Given the description of an element on the screen output the (x, y) to click on. 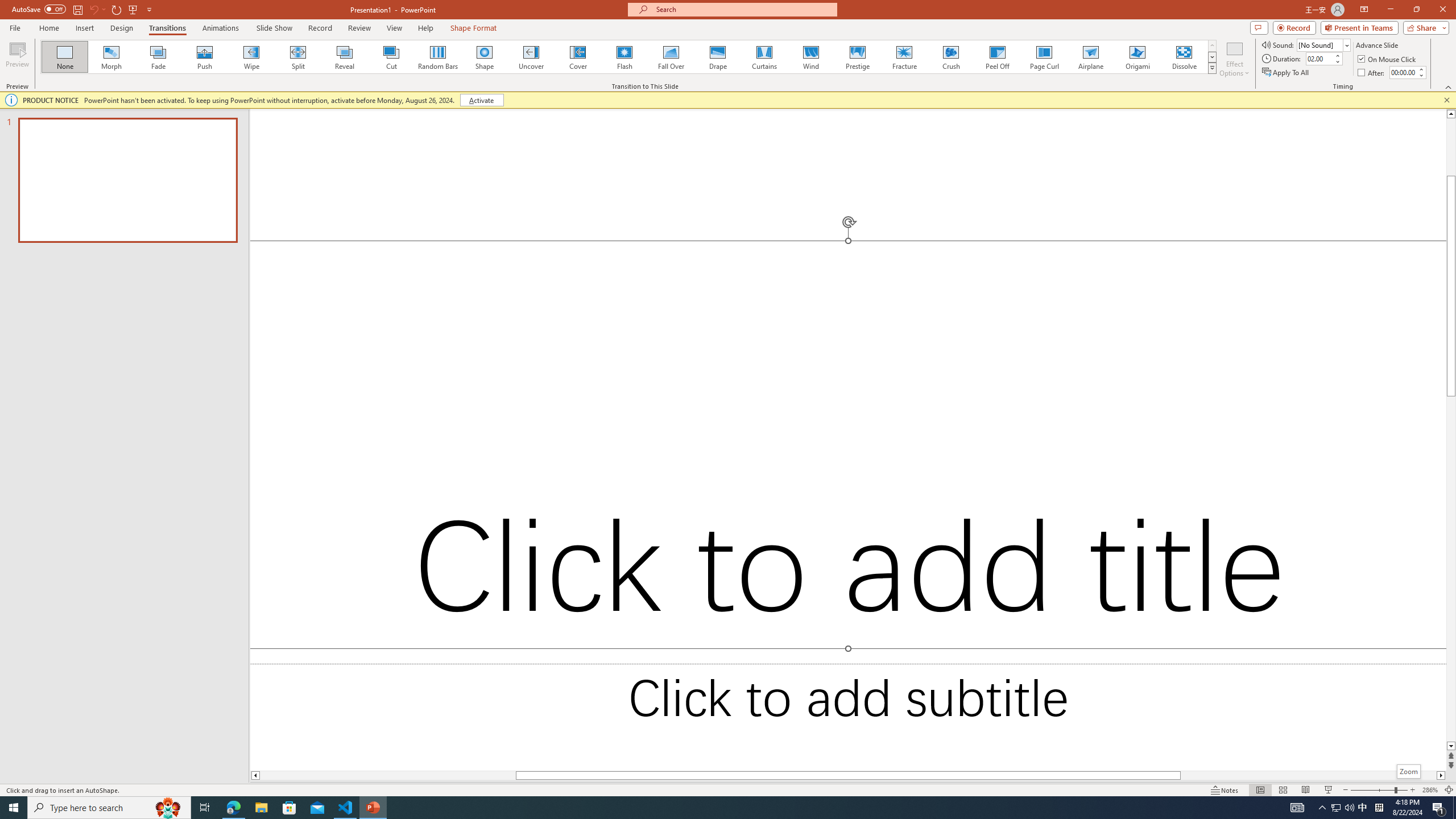
Airplane (1090, 56)
Drape (717, 56)
On Mouse Click (1387, 58)
Reveal (344, 56)
Duration (1319, 58)
Cover (577, 56)
Flash (624, 56)
Zoom 286% (1430, 790)
None (65, 56)
